Given the description of an element on the screen output the (x, y) to click on. 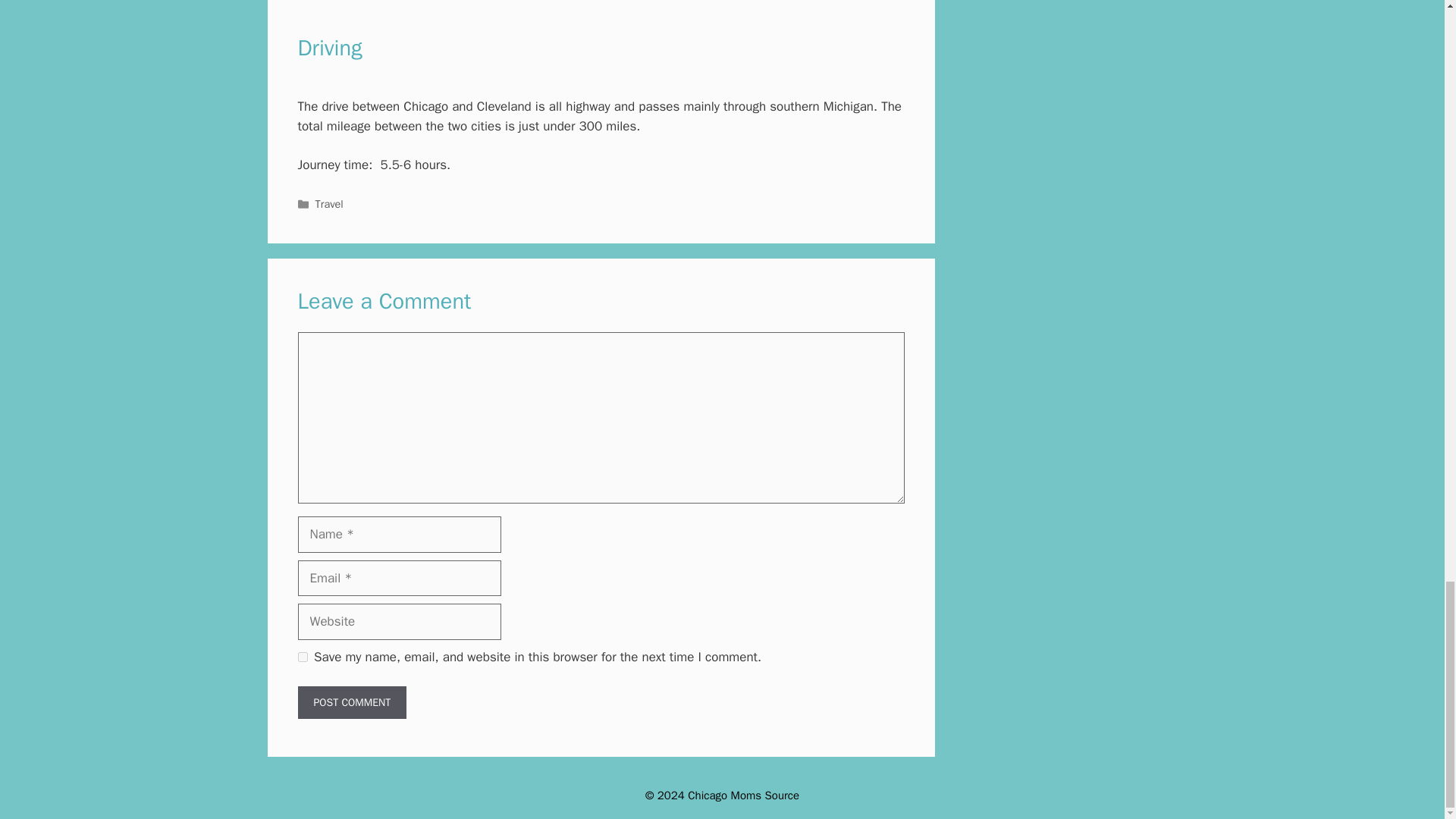
yes (302, 656)
Travel (329, 203)
Post Comment (351, 702)
Post Comment (351, 702)
